Given the description of an element on the screen output the (x, y) to click on. 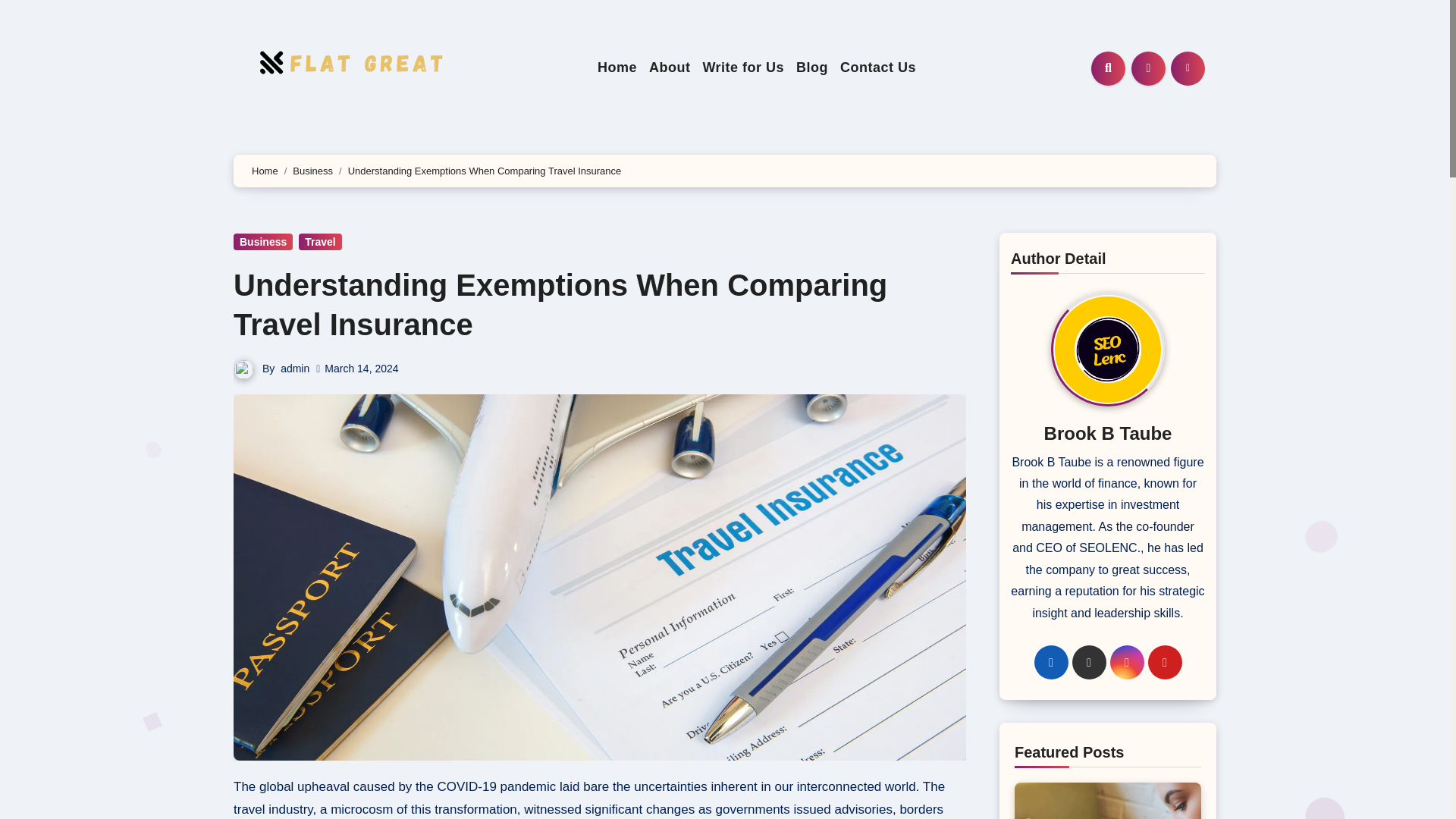
Business (262, 241)
About (669, 67)
About (669, 67)
Write for Us (742, 67)
Home (264, 170)
Blog (812, 67)
Travel (319, 241)
Home (617, 67)
Understanding Exemptions When Comparing Travel Insurance (559, 304)
Home (617, 67)
